Given the description of an element on the screen output the (x, y) to click on. 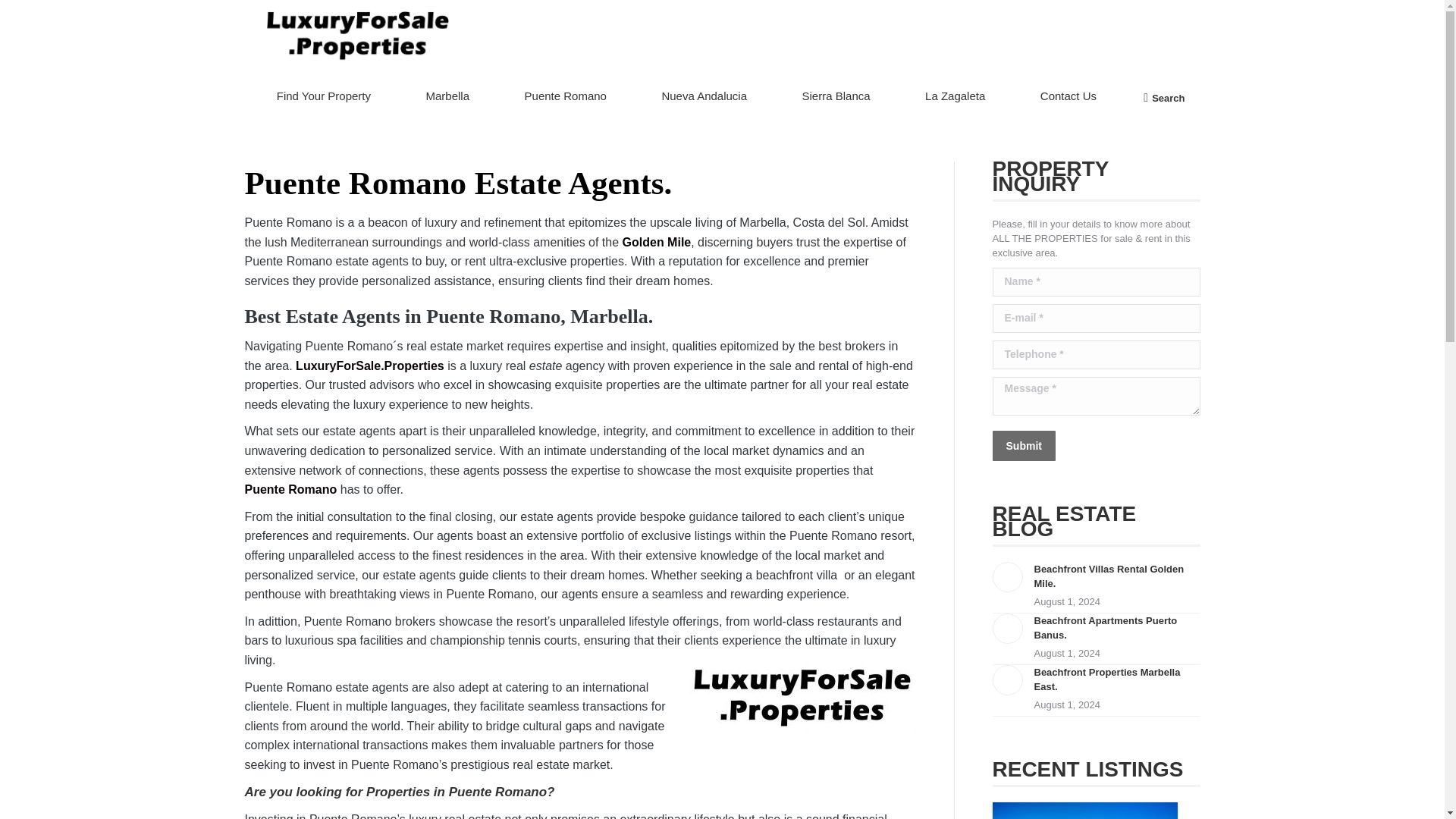
La Zagaleta (955, 97)
LuxuryForSale.Properties (369, 365)
Marbella (447, 97)
Go! (24, 16)
submit (1093, 447)
Sierra Blanca (835, 97)
Puente Romano (564, 97)
Best Estate Agents Puente Romano. (801, 695)
Beachfront Villas Rental Golden Mile. (1116, 575)
submit (1093, 447)
Find Your Property (323, 97)
Beachfront Apartments Puerto Banus. (1116, 627)
Beachfront Properties Marbella East. (1116, 679)
Submit (1022, 445)
Nueva Andalucia (703, 97)
